Given the description of an element on the screen output the (x, y) to click on. 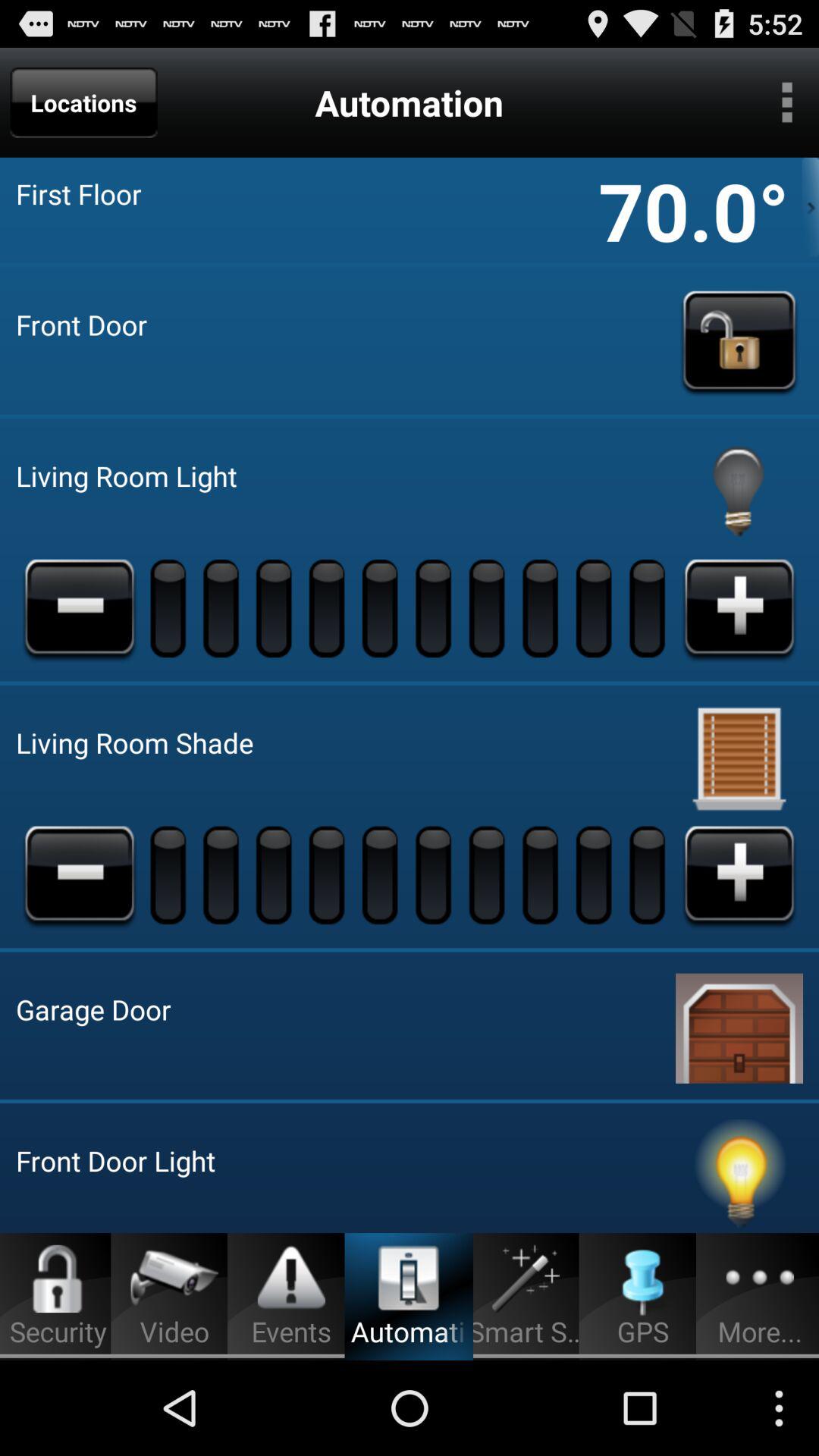
go to brightness less (79, 607)
